Given the description of an element on the screen output the (x, y) to click on. 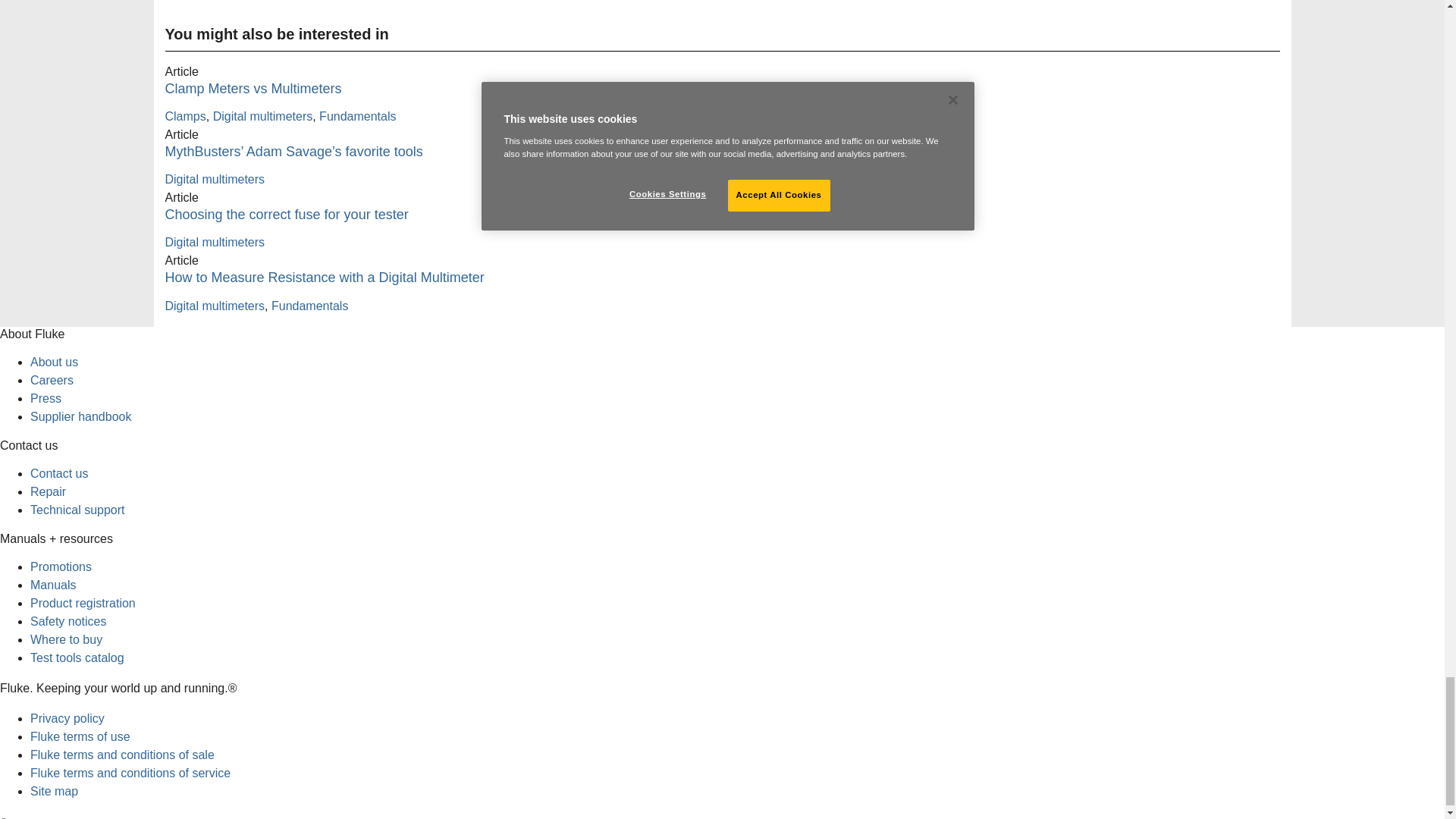
About us (54, 361)
Careers (52, 379)
Press (45, 398)
